Given the description of an element on the screen output the (x, y) to click on. 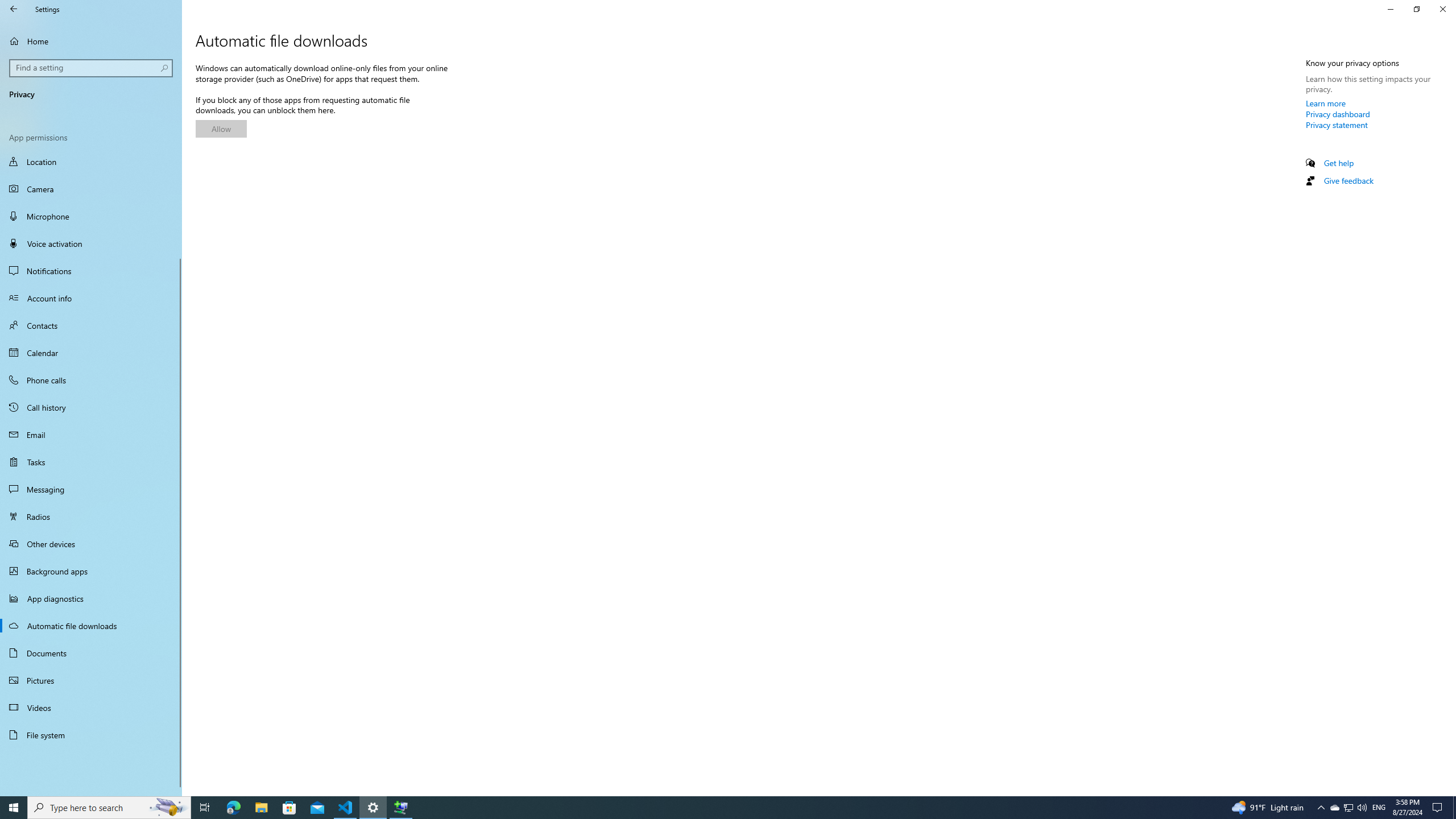
Contacts (91, 325)
Allow (221, 128)
App diagnostics (91, 597)
Search box, Find a setting (91, 67)
Videos (91, 707)
Call history (91, 406)
Learn more (1326, 102)
Account info (91, 298)
